Given the description of an element on the screen output the (x, y) to click on. 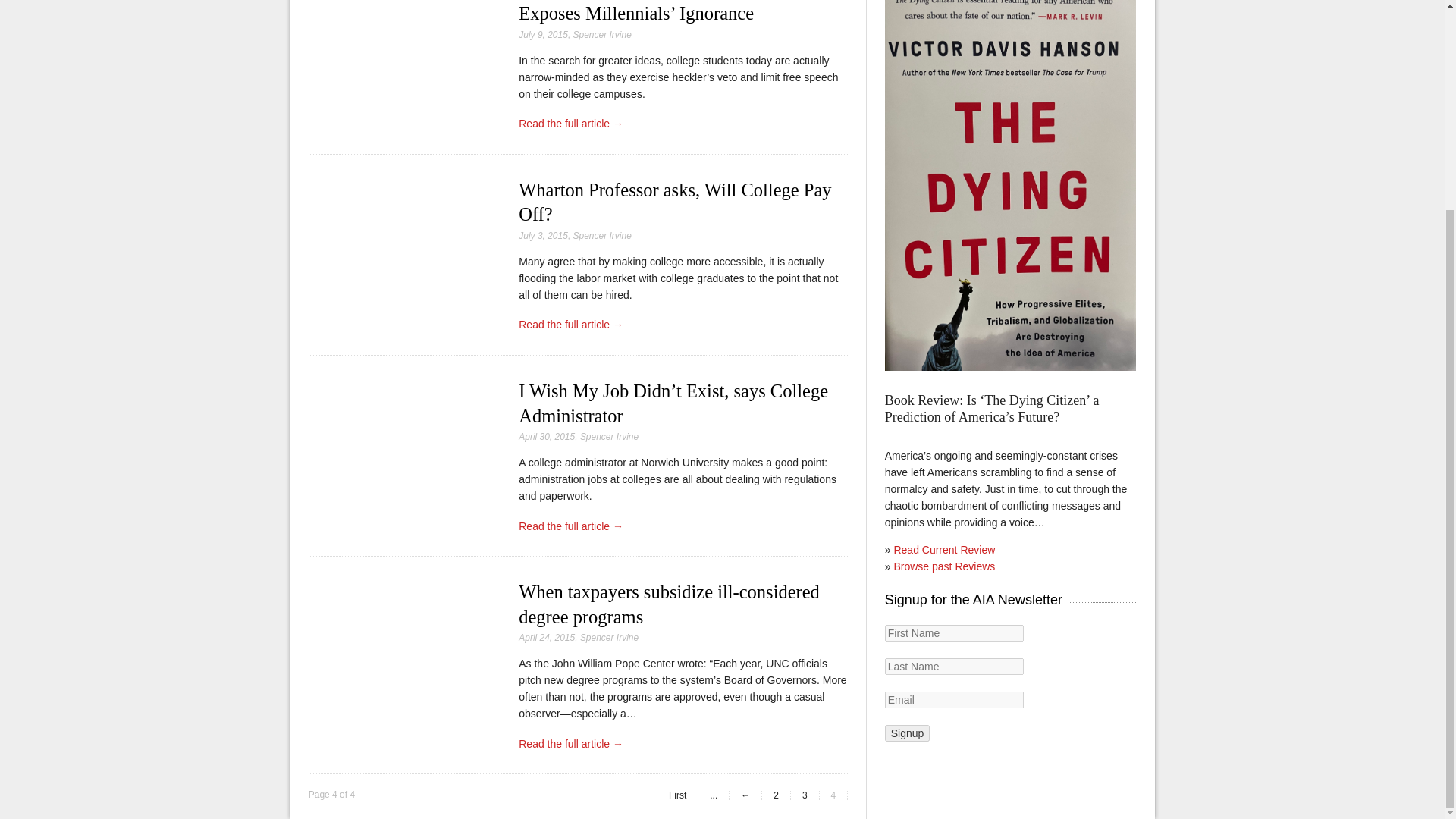
Posts by Spencer Irvine (609, 637)
When taxpayers subsidize ill-considered degree programs (668, 604)
Posts by Spencer Irvine (602, 34)
Browse past Reviews (943, 566)
When taxpayers subsidize ill-considered degree programs (668, 604)
Spencer Irvine (602, 34)
2 (775, 795)
Signup (907, 733)
Spencer Irvine (602, 235)
First (678, 795)
